Given the description of an element on the screen output the (x, y) to click on. 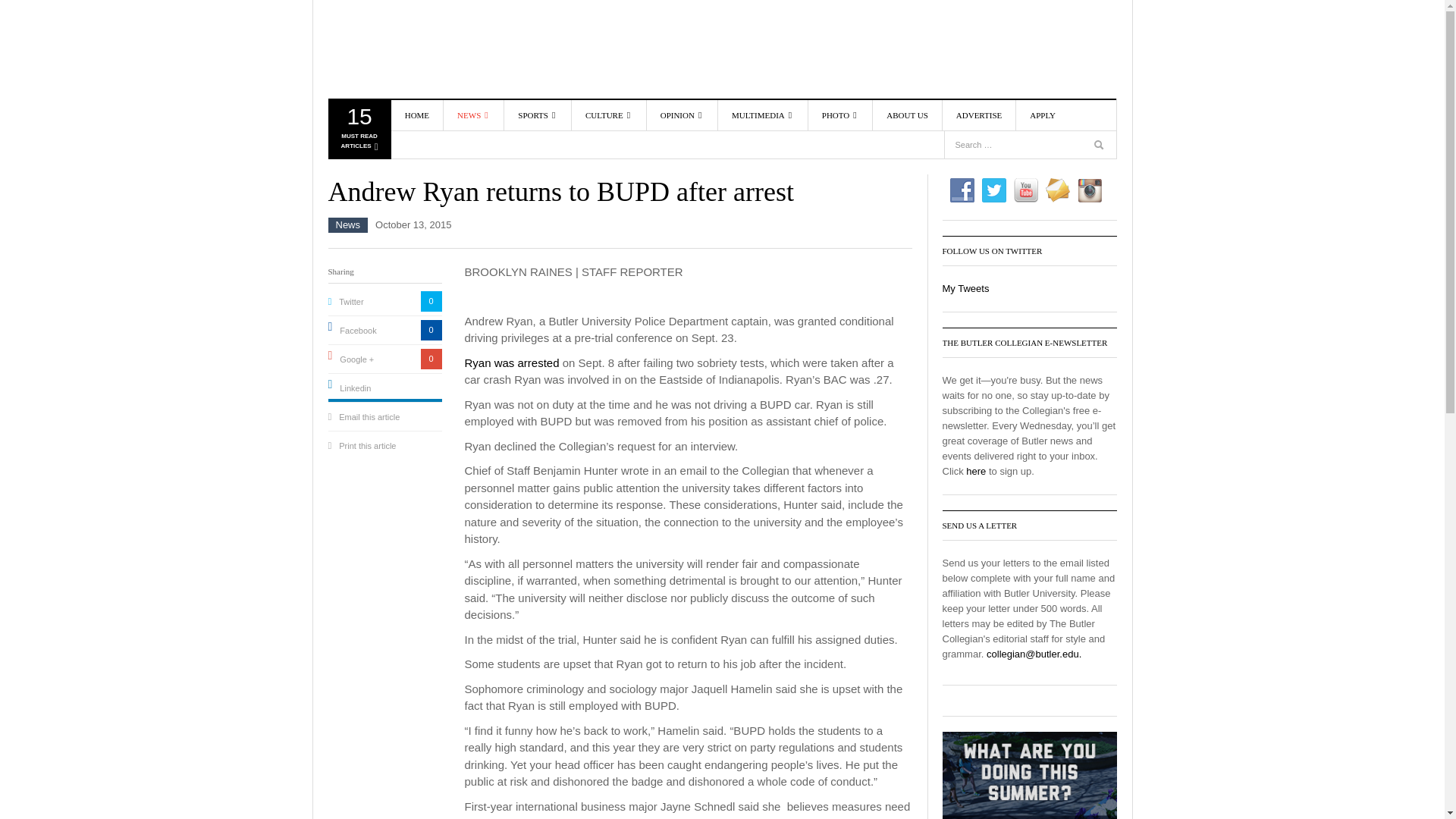
Search (1091, 115)
NEWS (499, 149)
The Butler Collegian (414, 49)
NEWS (473, 114)
Search (1100, 146)
HOME (416, 114)
The Butler Collegian (414, 49)
BREAKING NEWS (499, 171)
